Given the description of an element on the screen output the (x, y) to click on. 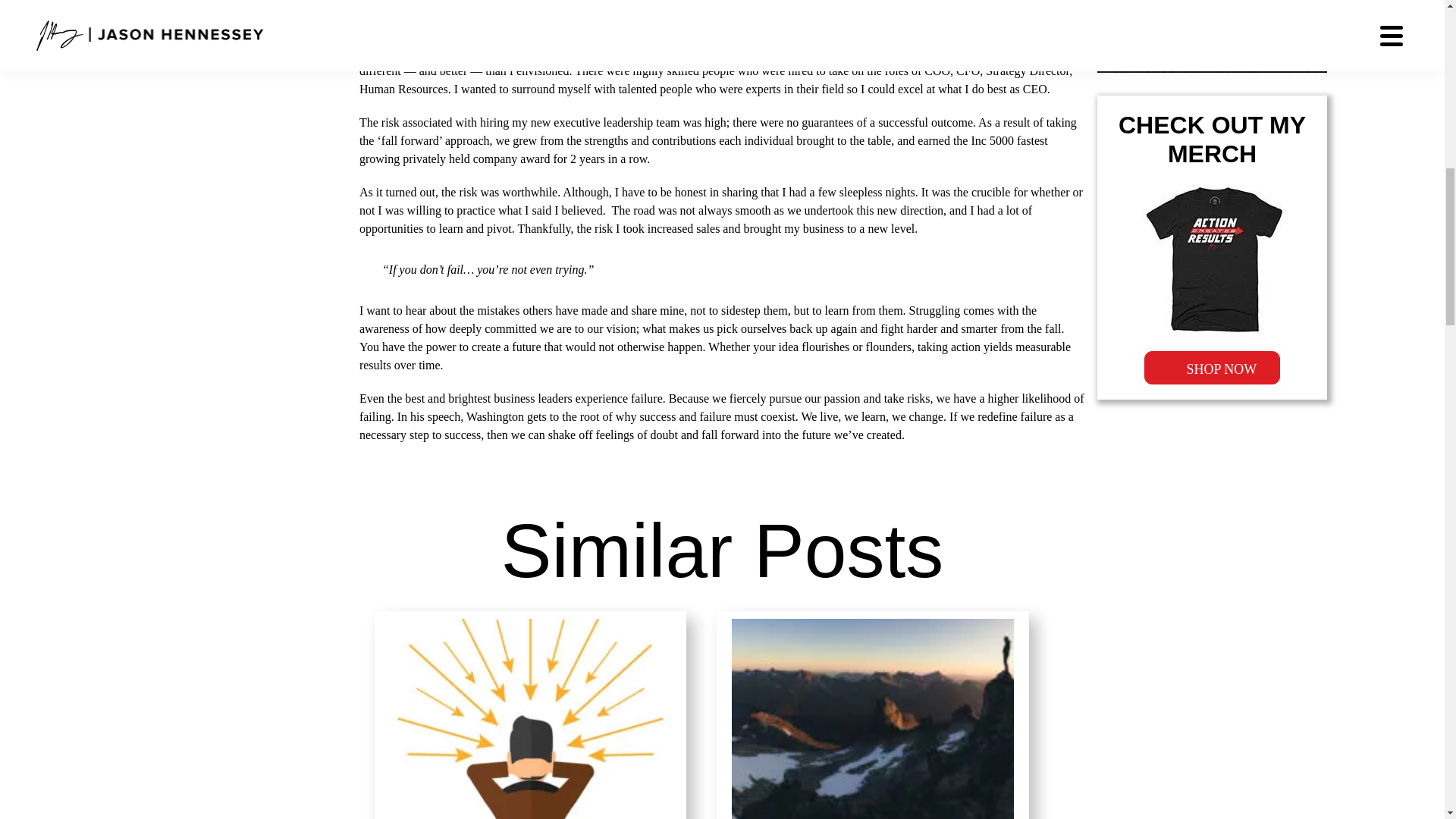
Jason Podcase (1212, 40)
Should We Be Attracted to the Law of Attraction? (530, 714)
Jason Podcase (1211, 367)
My Merch (1212, 259)
Latest Epispde (1212, 4)
LISTEN NOW (1212, 40)
SHOP NOW (1211, 367)
How to Leverage Confirmation Bias as an Entrepreneur (872, 714)
